Given the description of an element on the screen output the (x, y) to click on. 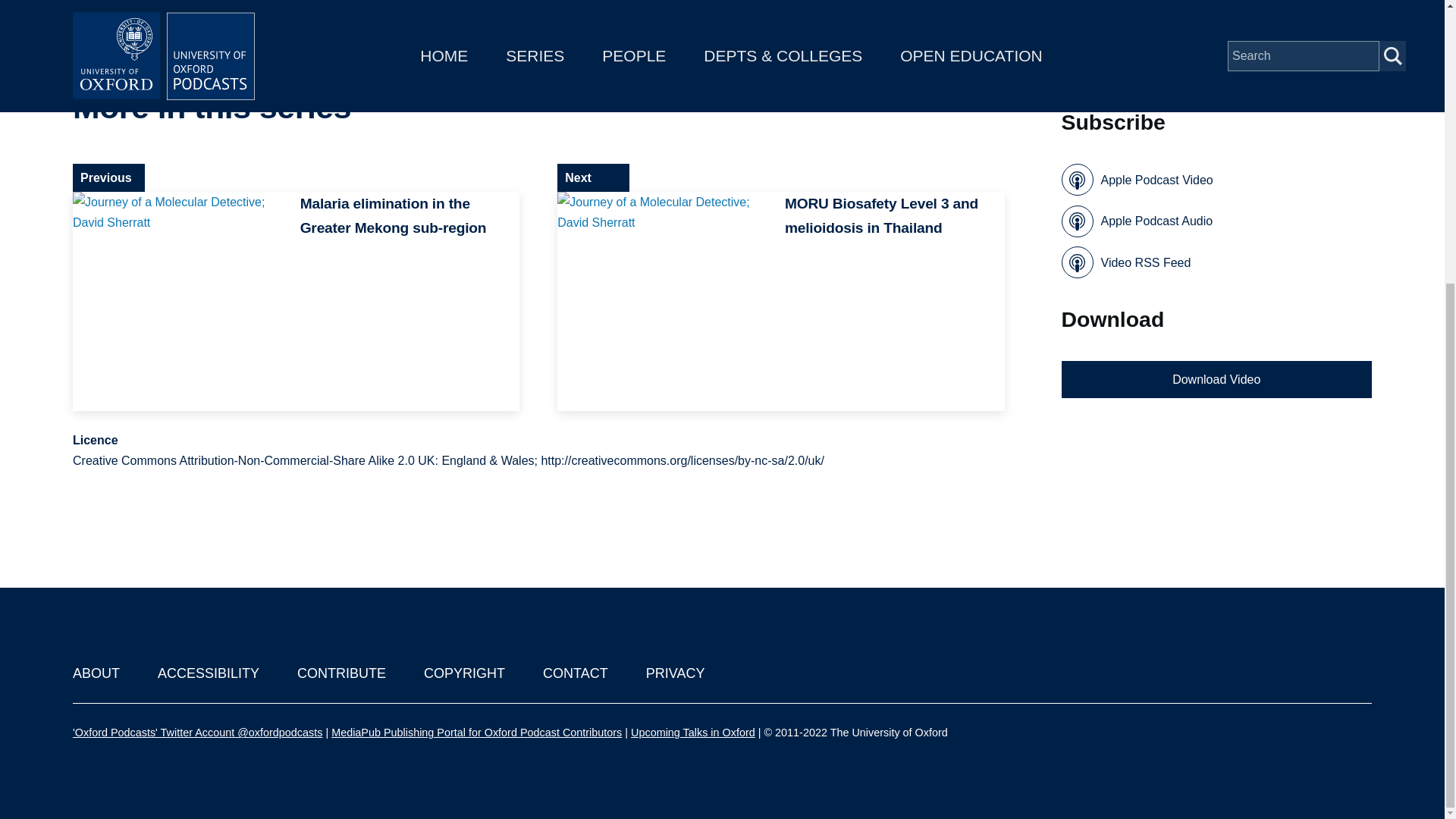
Apple Podcast Audio (1136, 221)
CONTACT (575, 672)
ABOUT (95, 672)
ACCESSIBILITY (208, 672)
Malaria elimination in the Greater Mekong sub-region (295, 301)
View Series (959, 107)
Download Video (1217, 379)
PRIVACY (675, 672)
Upcoming Talks in Oxford (692, 732)
MORU Biosafety Level 3 and melioidosis in Thailand (780, 301)
MediaPub Publishing Portal for Oxford Podcast Contributors (476, 732)
Video RSS Feed (1126, 262)
Apple Podcast Video (1136, 179)
COPYRIGHT (464, 672)
CONTRIBUTE (341, 672)
